Given the description of an element on the screen output the (x, y) to click on. 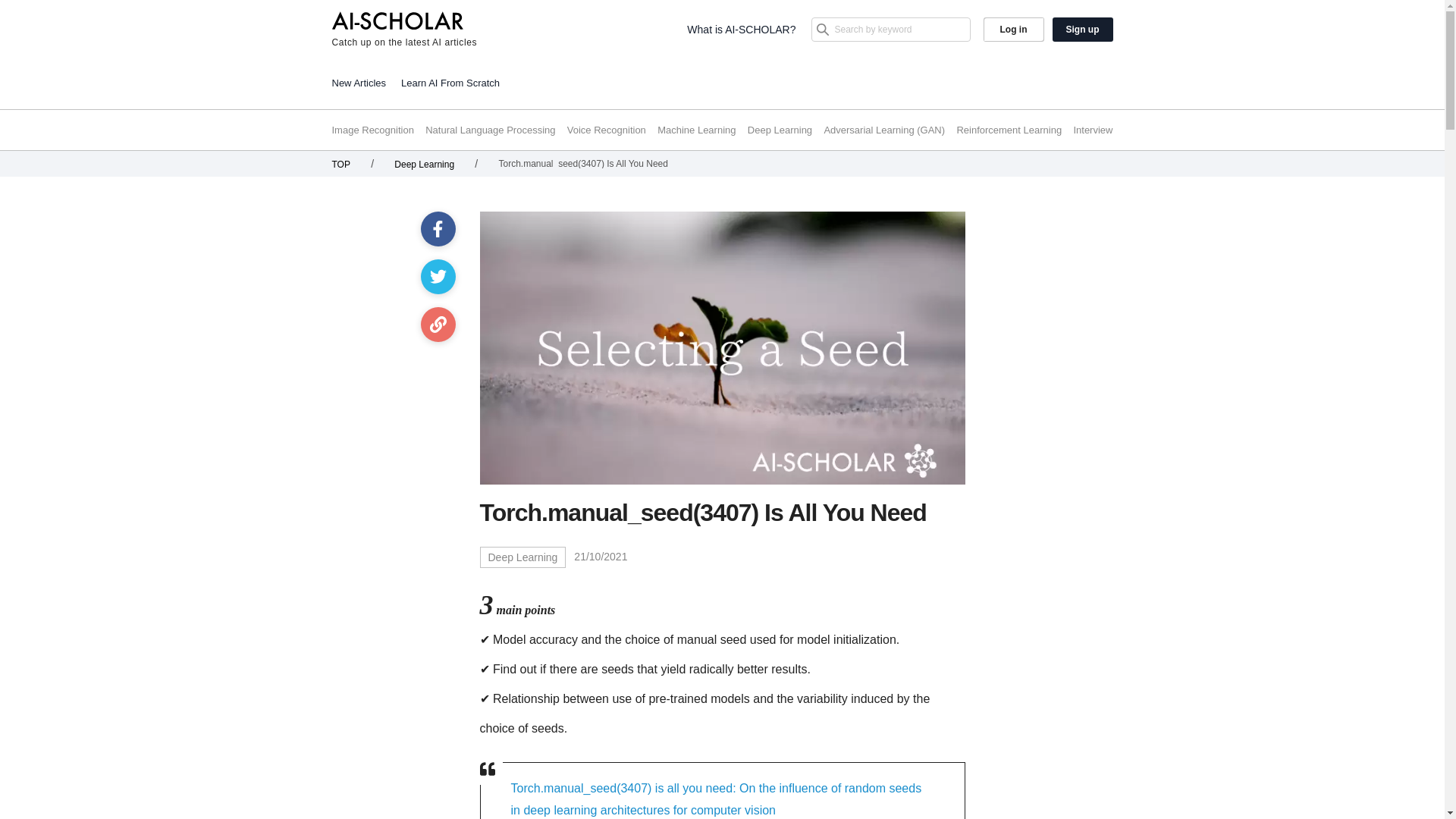
Deep Learning (780, 129)
TOP (340, 163)
Reinforcement Learning (1008, 129)
Voice Recognition (606, 129)
Learn AI From Scratch (450, 82)
Machine Learning (696, 129)
Sign up (1082, 29)
Interview (1092, 129)
Natural Language Processing (489, 129)
Log in (1012, 29)
What is AI-SCHOLAR? (740, 28)
Deep Learning (522, 557)
Image Recognition (372, 129)
New Articles (359, 82)
Deep Learning (424, 163)
